Given the description of an element on the screen output the (x, y) to click on. 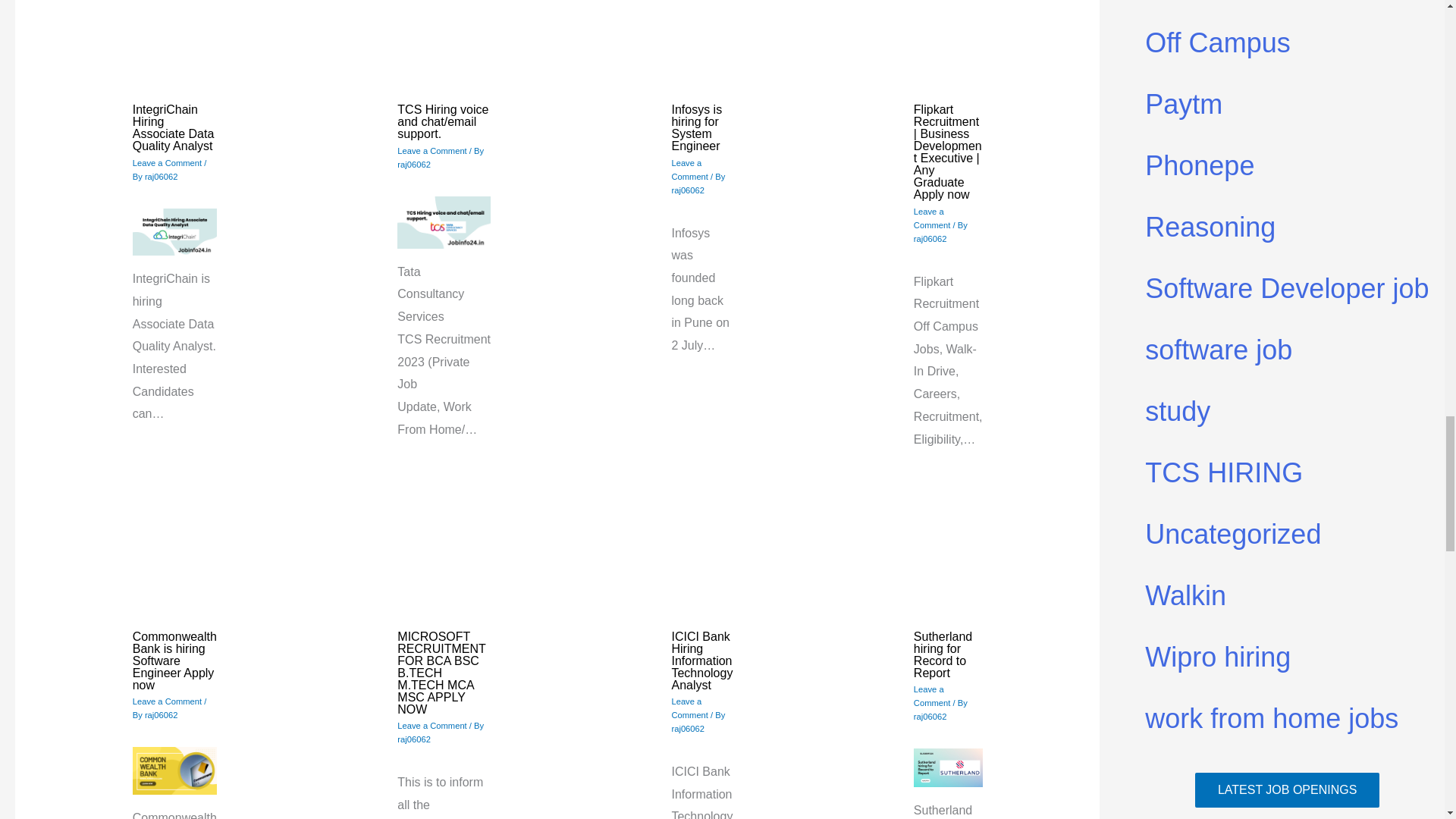
Sutherland hiring for Record to Report 7 (948, 767)
raj06062 (160, 175)
IntegriChain Hiring Associate Data Quality Analyst 4 (174, 232)
raj06062 (687, 189)
View all posts by raj06062 (930, 238)
Commonwealth Bank is hiring Software Engineer Apply now 6 (174, 770)
View all posts by raj06062 (160, 714)
View all posts by raj06062 (687, 728)
Leave a Comment (689, 169)
View all posts by raj06062 (930, 716)
View all posts by raj06062 (160, 175)
View all posts by raj06062 (687, 189)
raj06062 (413, 163)
Leave a Comment (431, 150)
View all posts by raj06062 (413, 163)
